Given the description of an element on the screen output the (x, y) to click on. 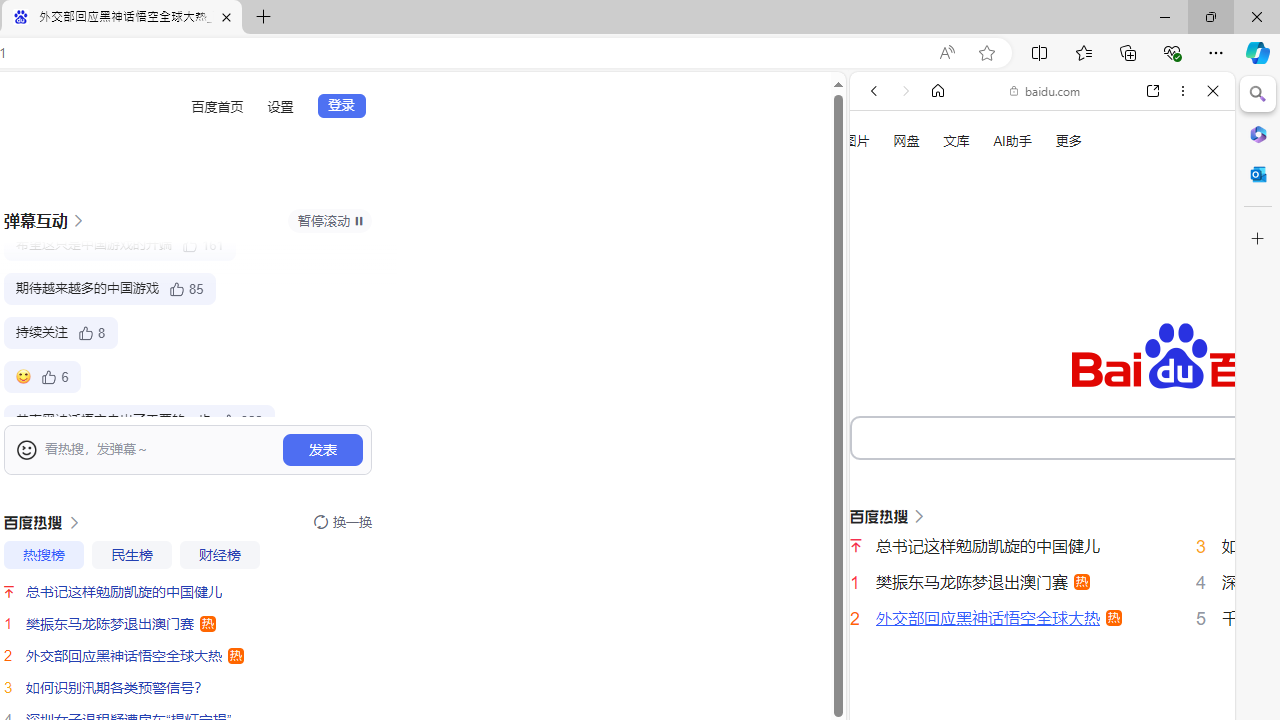
English (Uk) (1042, 628)
English (US) (1042, 579)
English (US) (1042, 579)
